Given the description of an element on the screen output the (x, y) to click on. 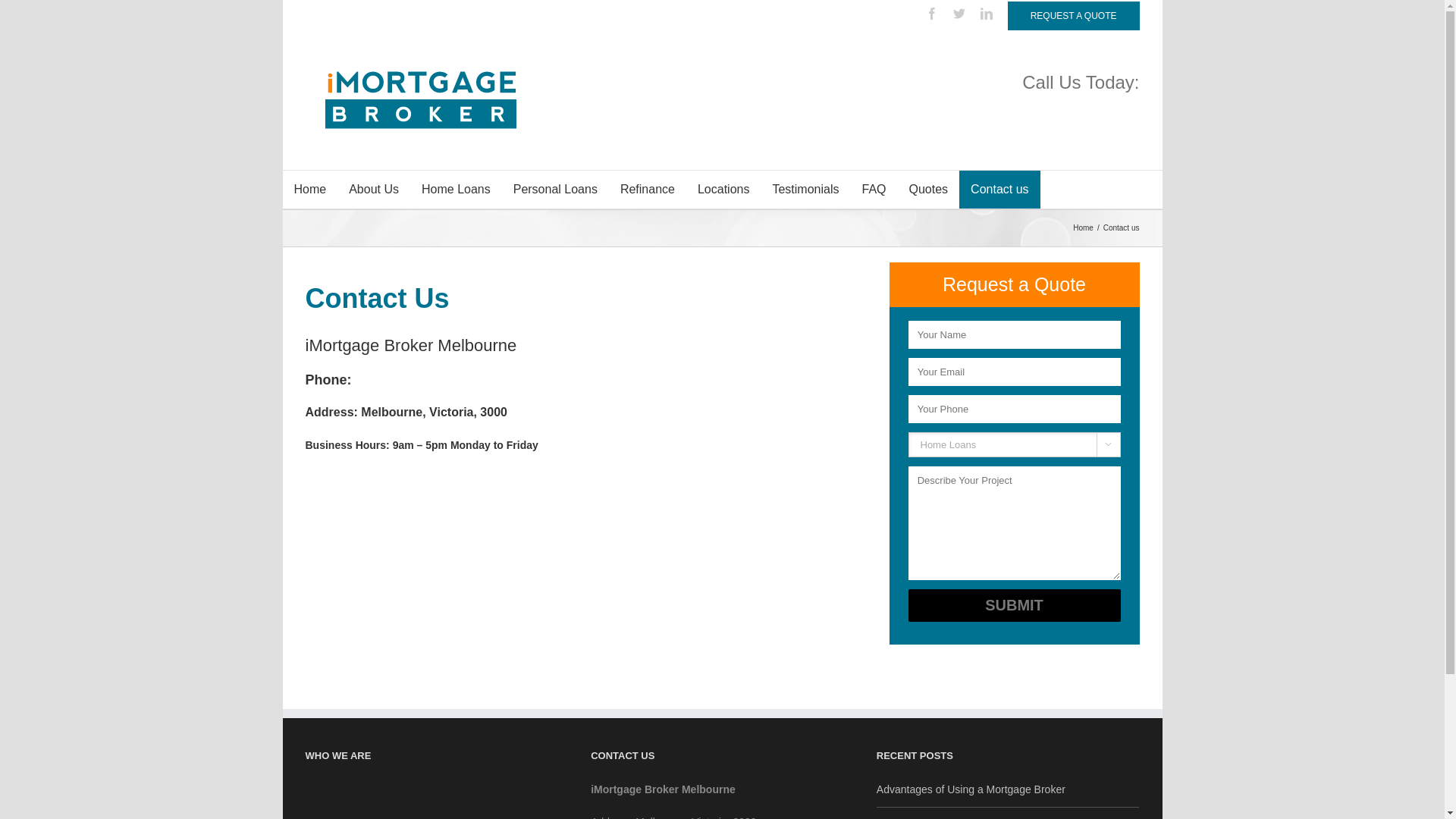
SUBMIT Element type: text (1014, 605)
Locations Element type: text (723, 189)
Twitter Element type: hover (959, 13)
Home Loans Element type: text (456, 189)
Advantages of Using a Mortgage Broker Element type: text (1007, 789)
REQUEST A QUOTE Element type: text (1073, 15)
Home Element type: text (309, 189)
Refinance Element type: text (647, 189)
About Us Element type: text (373, 189)
Testimonials Element type: text (805, 189)
Quotes Element type: text (928, 189)
Facebook Element type: hover (931, 13)
FAQ Element type: text (873, 189)
Linkedin Element type: hover (986, 13)
Home Element type: text (1085, 227)
Personal Loans Element type: text (555, 189)
Contact us Element type: text (999, 189)
